Given the description of an element on the screen output the (x, y) to click on. 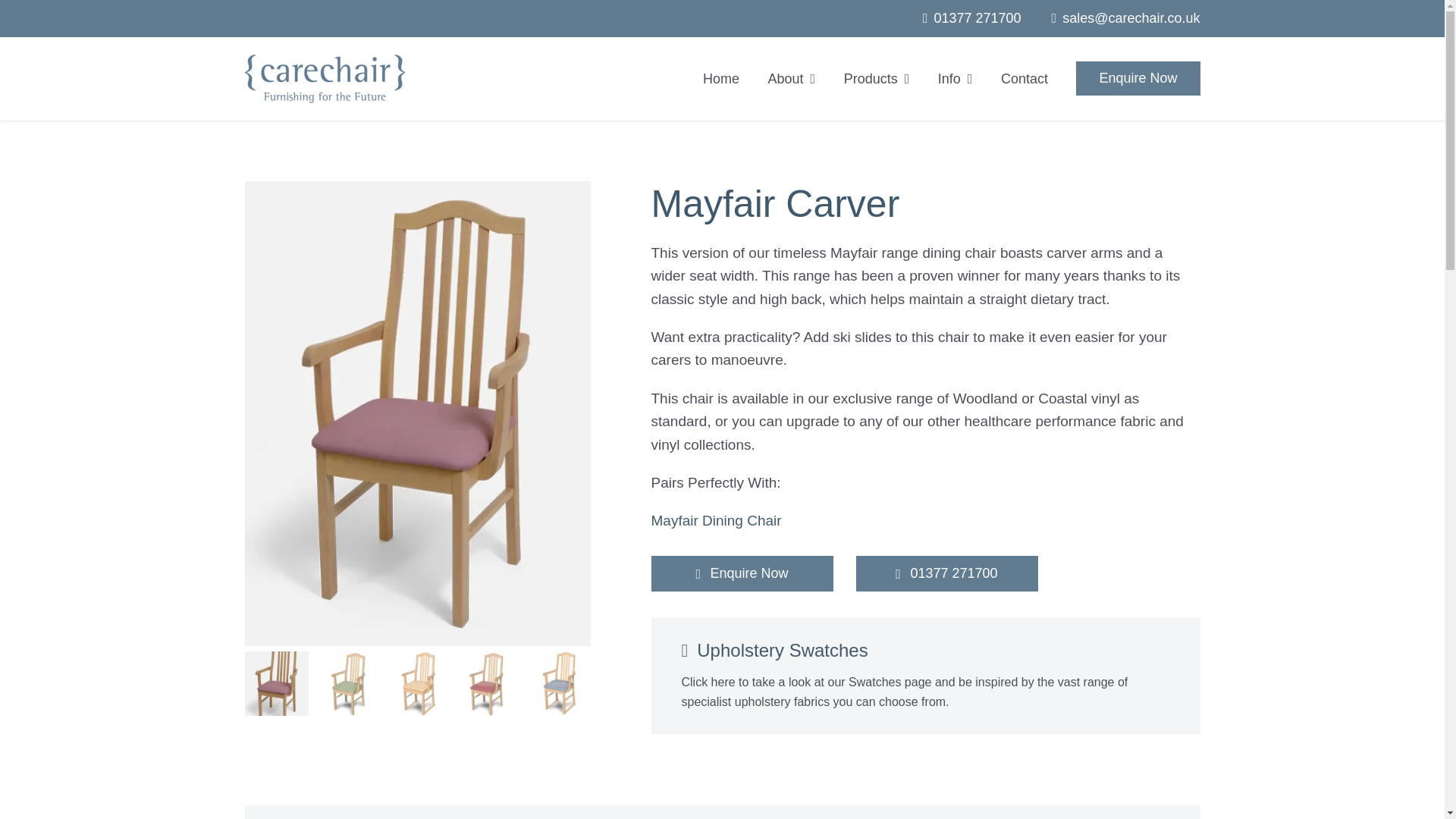
01377 271700 (976, 17)
About (791, 78)
Products (877, 78)
Home (721, 78)
